Given the description of an element on the screen output the (x, y) to click on. 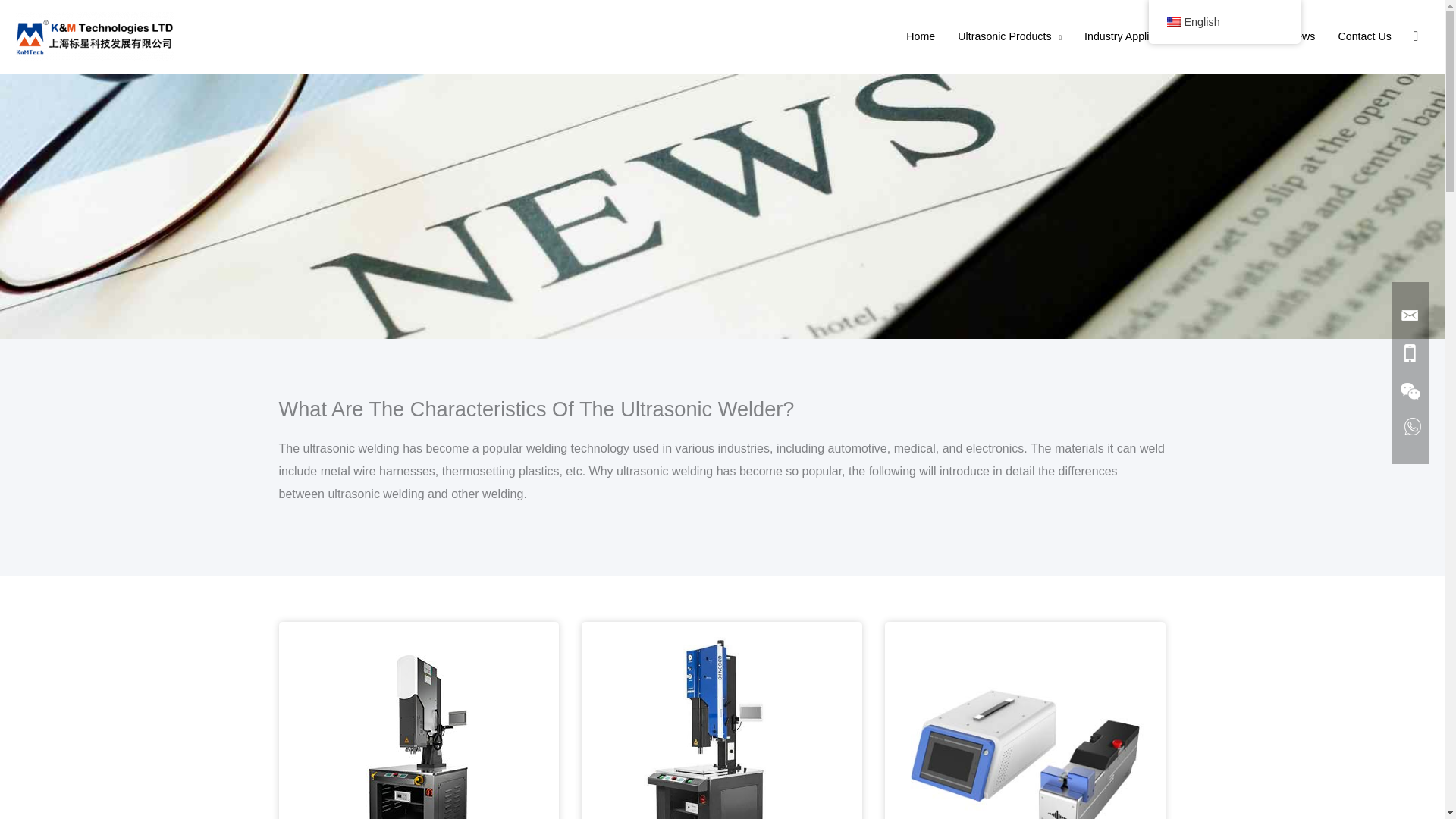
Ultrasonic Products (1009, 36)
Search (1415, 36)
English (1172, 21)
About Us (1237, 36)
Contact Us (1364, 36)
Home (920, 36)
Industry Application (1136, 36)
News (1301, 36)
